Given the description of an element on the screen output the (x, y) to click on. 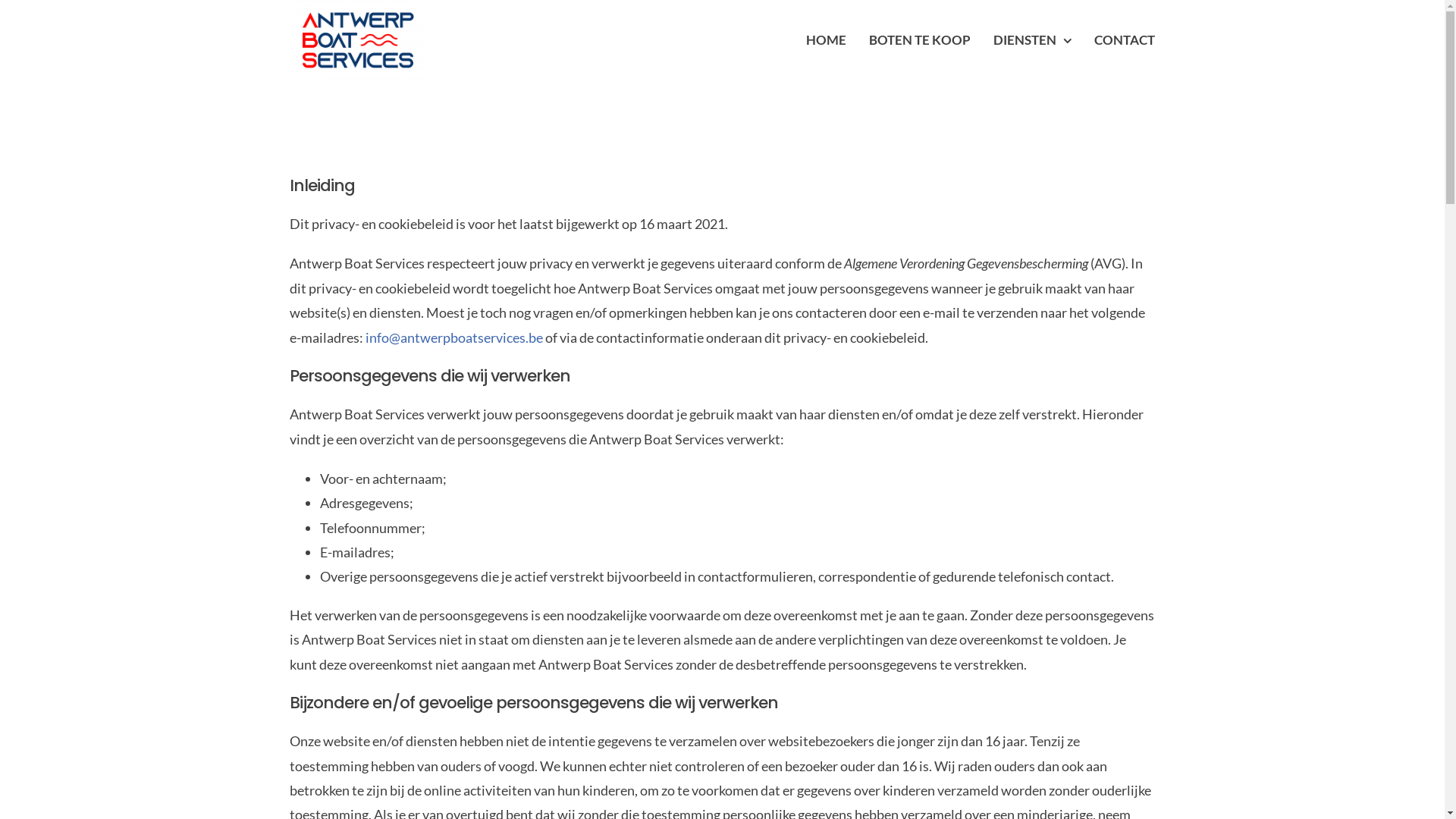
DIENSTEN Element type: text (1032, 39)
CONTACT Element type: text (1124, 39)
BOTEN TE KOOP Element type: text (919, 39)
HOME Element type: text (826, 39)
info@antwerpboatservices.be Element type: text (453, 337)
